Given the description of an element on the screen output the (x, y) to click on. 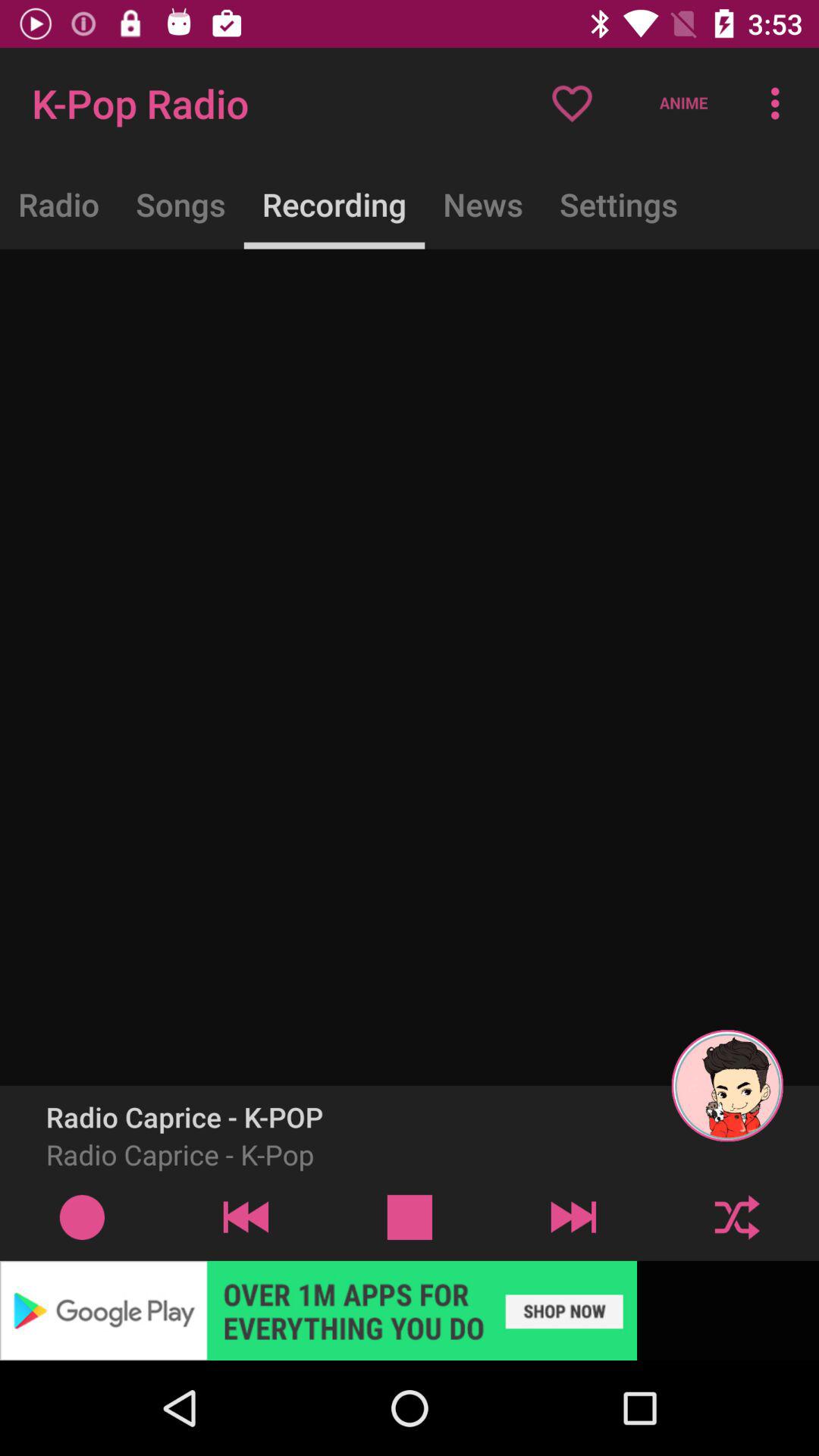
forward button (573, 1216)
